Given the description of an element on the screen output the (x, y) to click on. 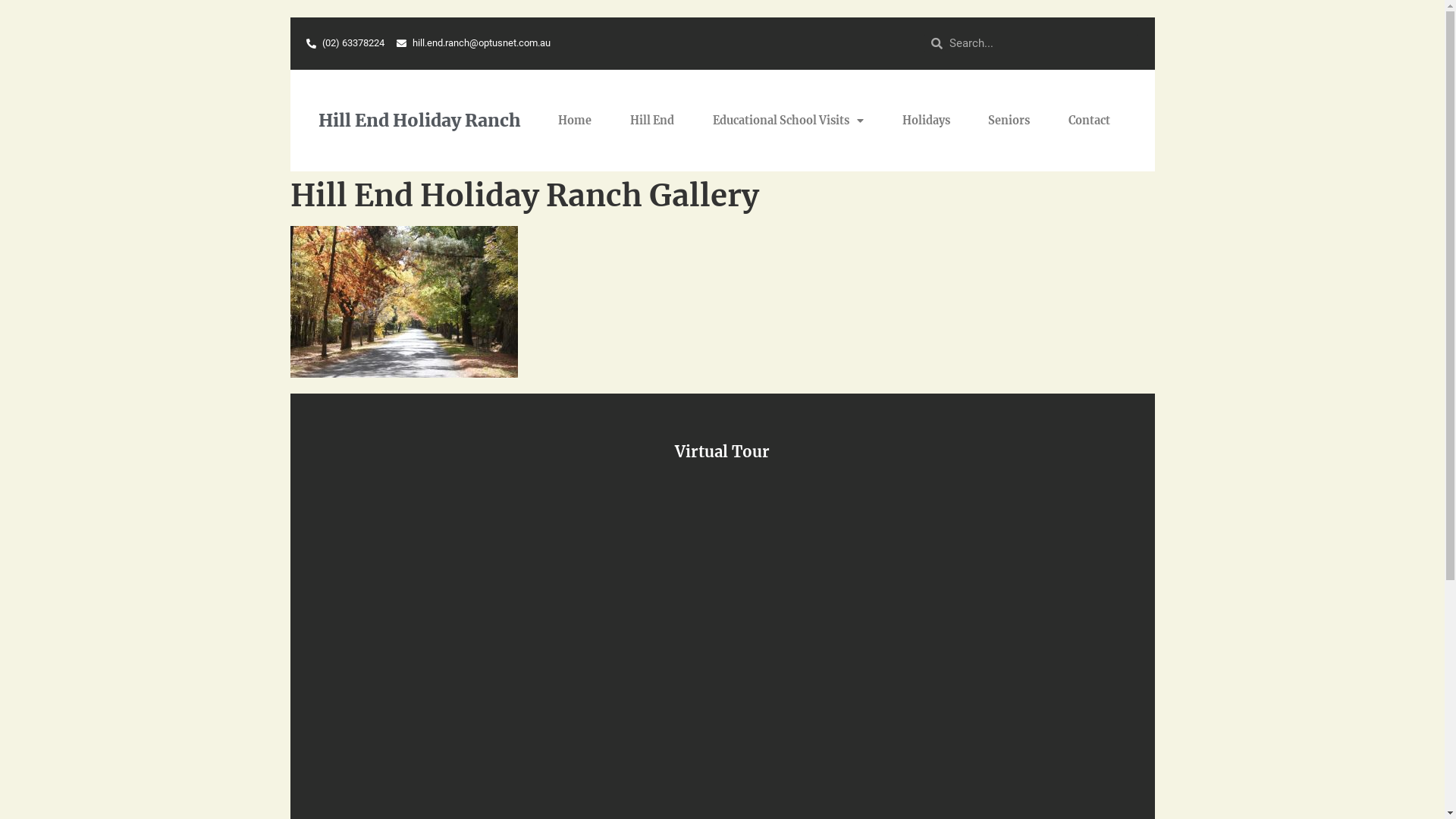
Hill End Holiday Ranch Element type: text (419, 120)
Educational School Visits Element type: text (787, 120)
Home Element type: text (575, 120)
Seniors Element type: text (1009, 120)
Holidays Element type: text (925, 120)
Hill End Element type: text (652, 120)
Contact Element type: text (1089, 120)
